Given the description of an element on the screen output the (x, y) to click on. 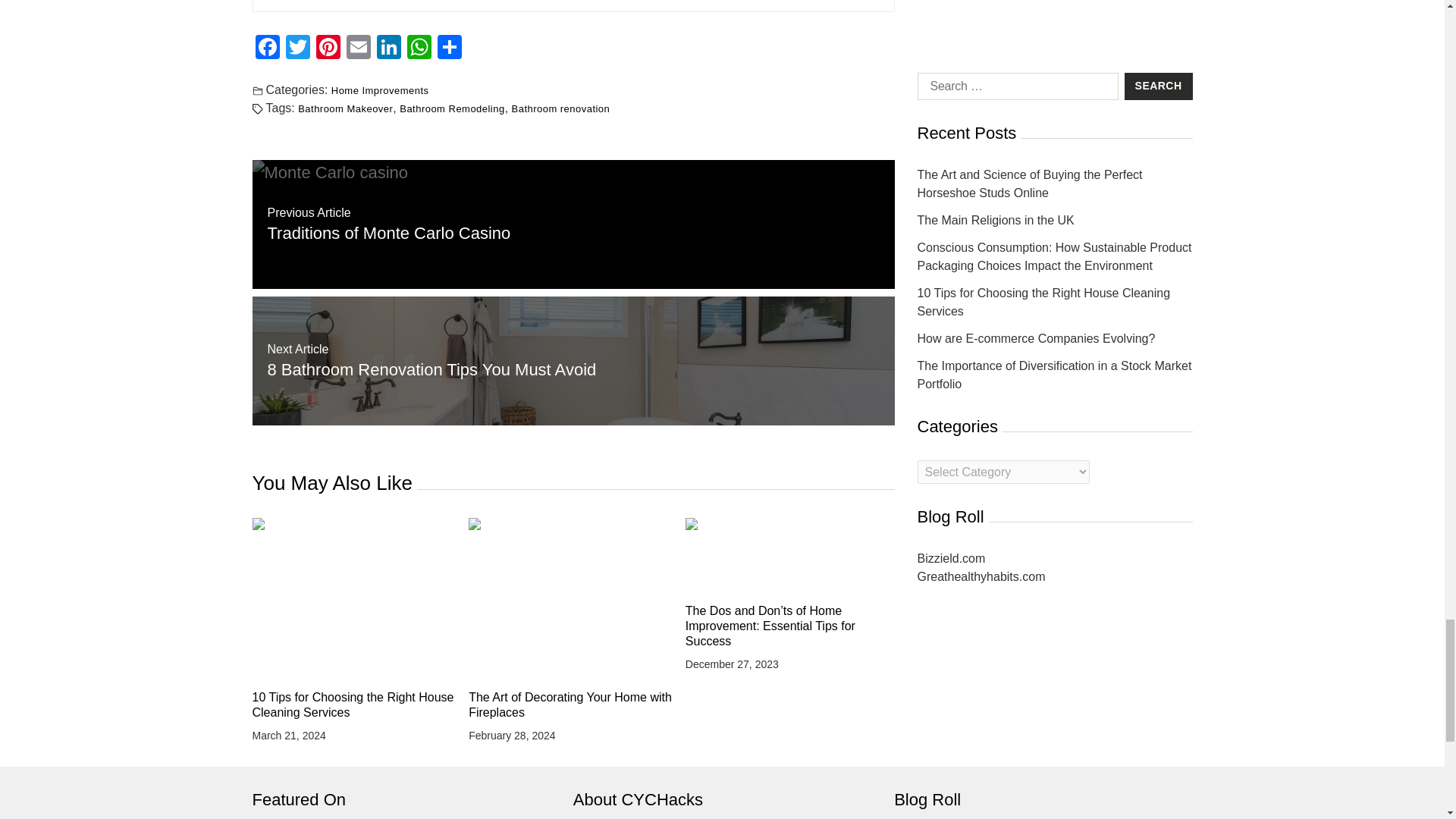
Facebook (266, 49)
